Given the description of an element on the screen output the (x, y) to click on. 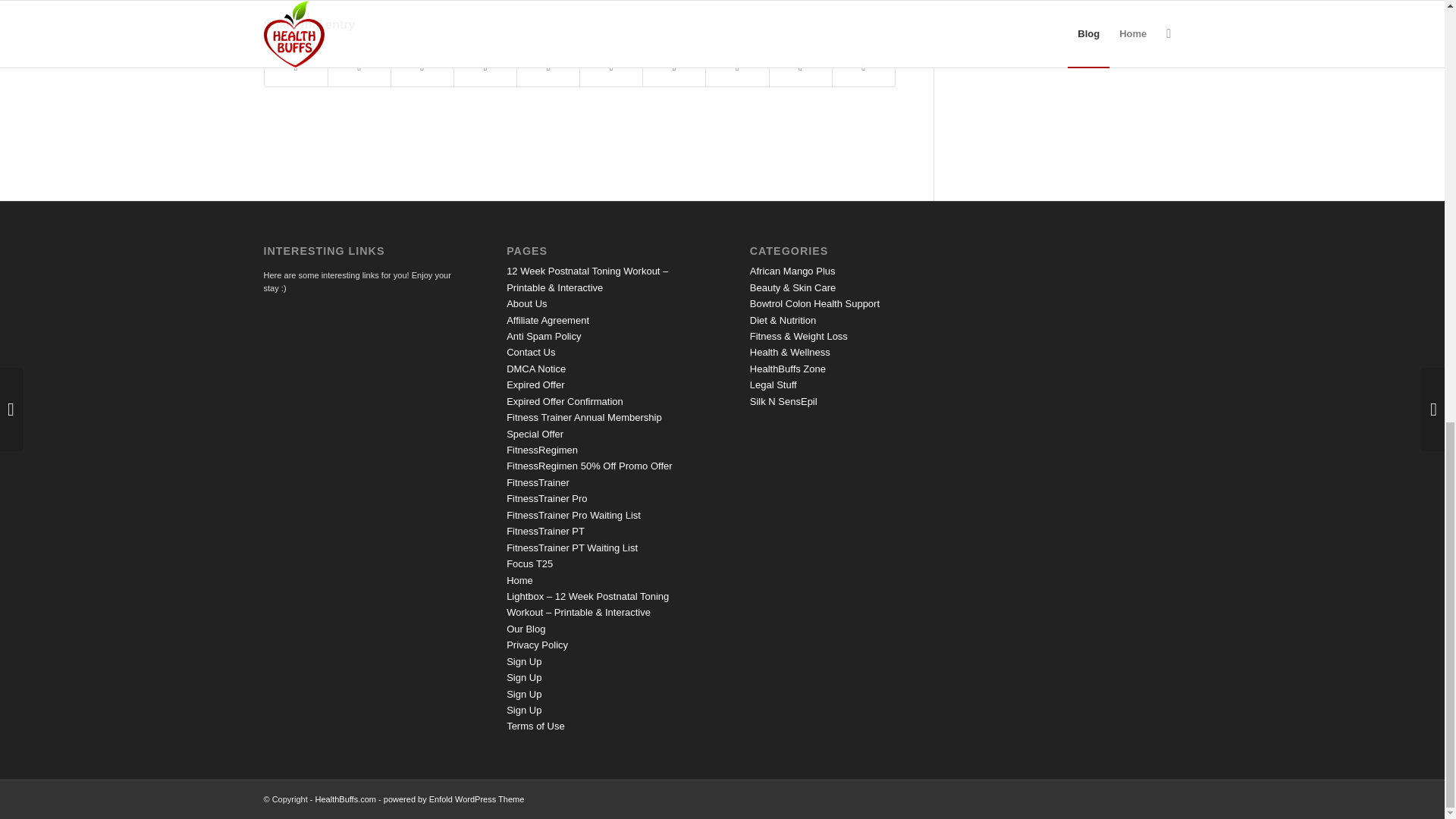
FitnessTrainer Pro (546, 498)
FitnessRegimen (542, 449)
Expired Offer (535, 384)
DMCA Notice (536, 368)
About Us (526, 303)
Fitness Trainer Annual Membership Special Offer (583, 424)
Contact Us (530, 351)
Expired Offer Confirmation (564, 401)
Affiliate Agreement (547, 319)
FitnessTrainer (537, 482)
